Given the description of an element on the screen output the (x, y) to click on. 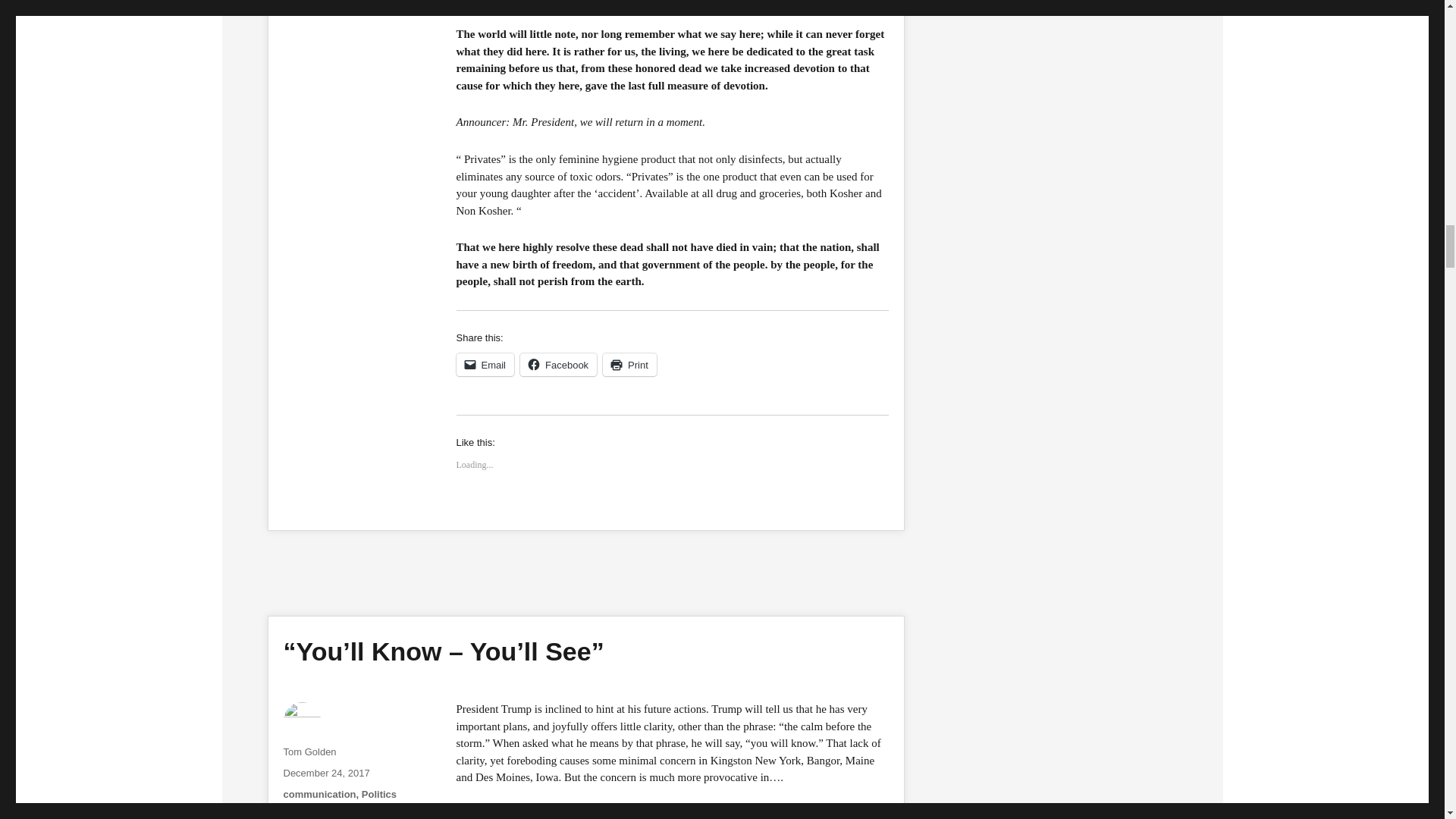
Click to email a link to a friend (486, 363)
Click to print (629, 363)
Click to share on Facebook (557, 363)
